Given the description of an element on the screen output the (x, y) to click on. 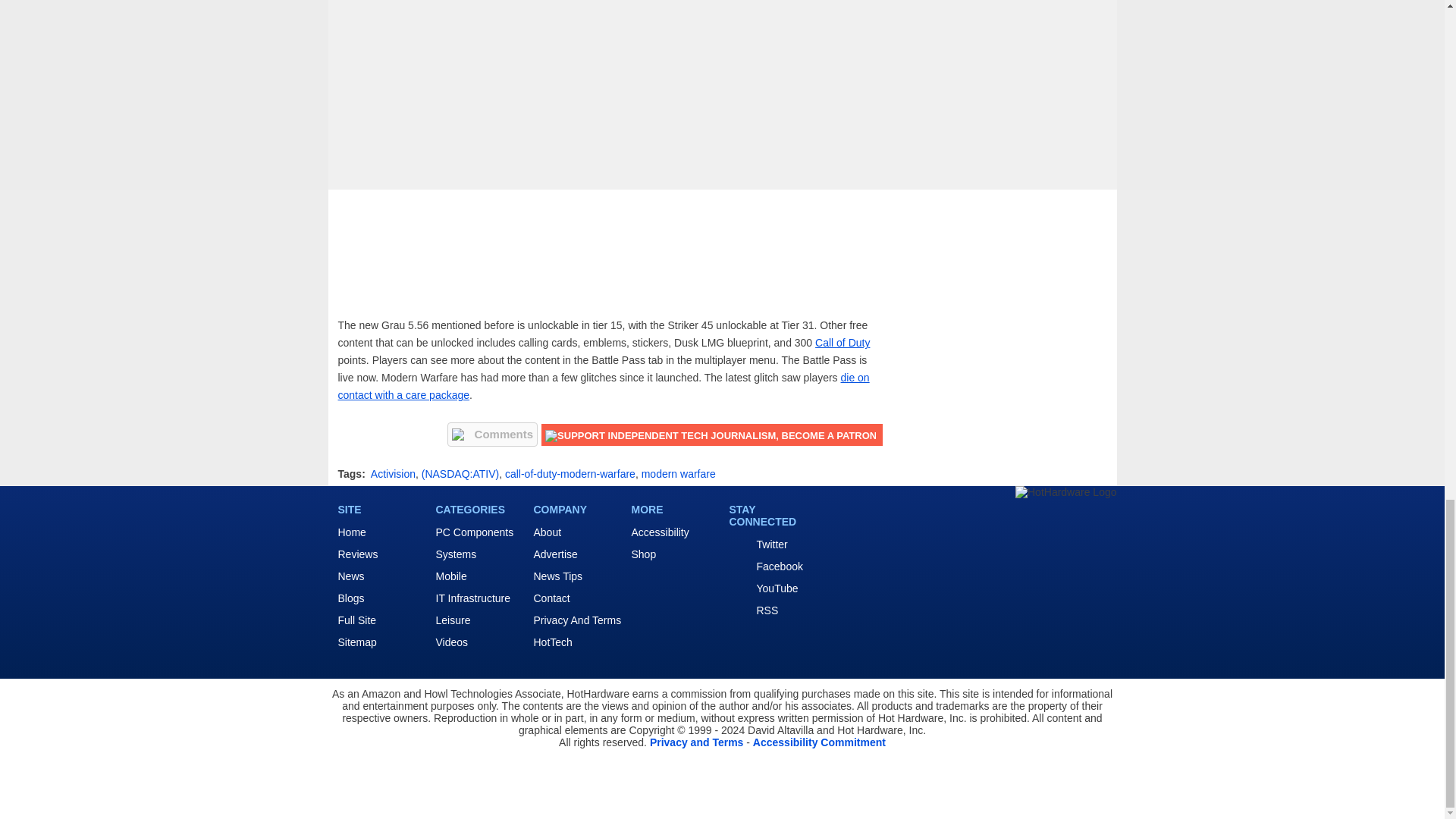
Comments (492, 434)
